Given the description of an element on the screen output the (x, y) to click on. 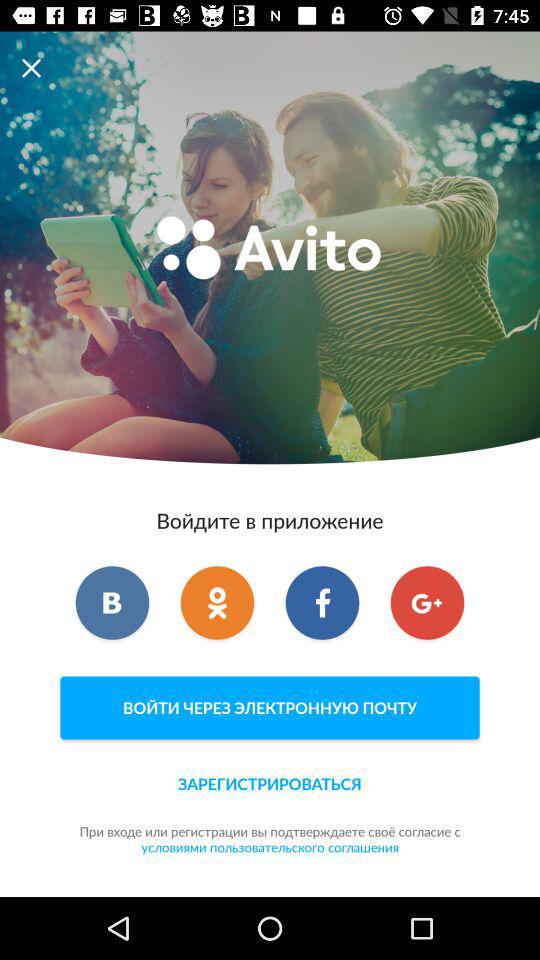
select item on the right (427, 603)
